Given the description of an element on the screen output the (x, y) to click on. 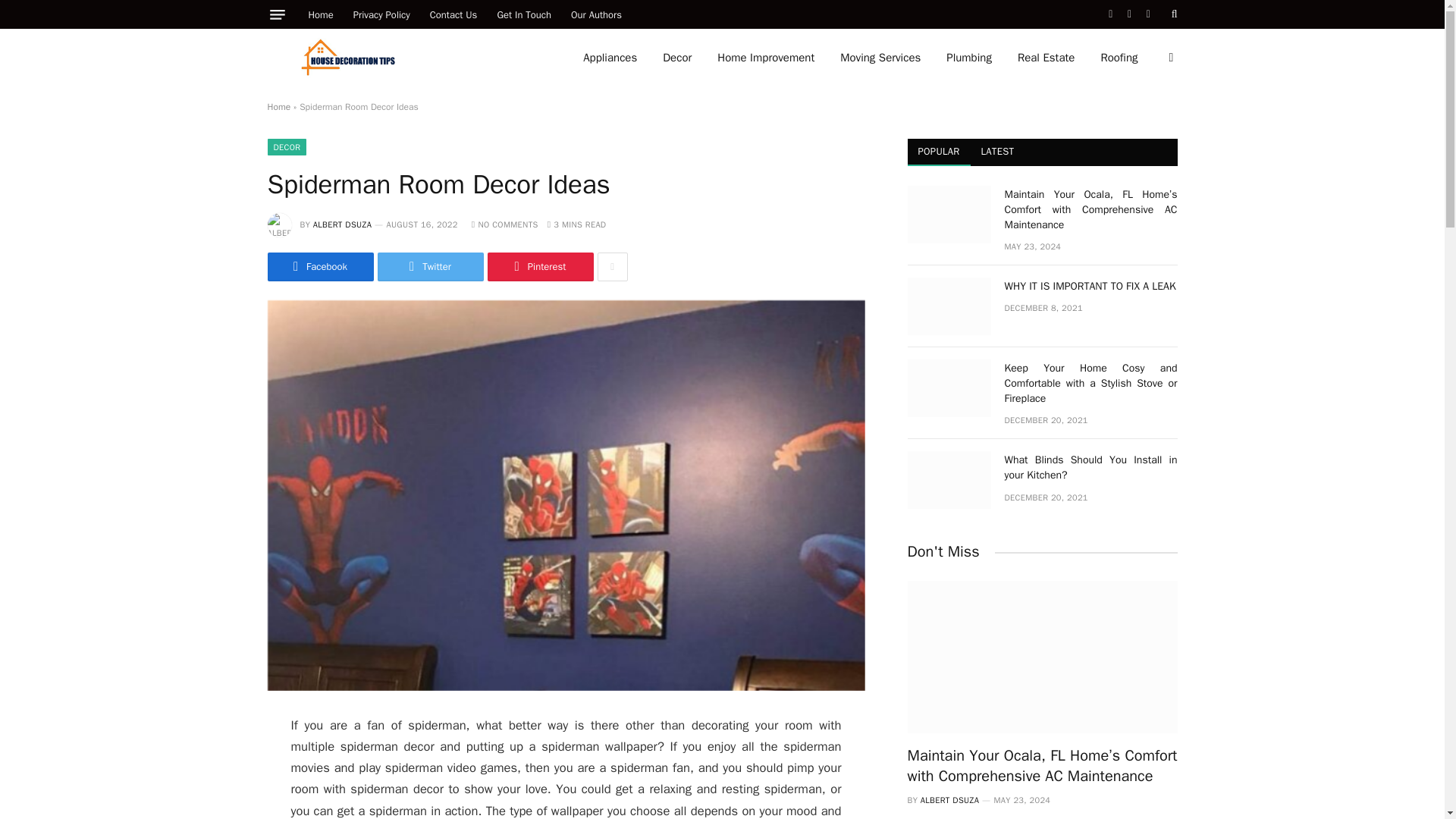
Plumbing (968, 57)
Appliances (609, 57)
Facebook (319, 266)
Switch to Dark Design - easier on eyes. (1169, 57)
Share on Pinterest (539, 266)
Share on Facebook (319, 266)
Decor (676, 57)
Our Authors (595, 14)
Moving Services (880, 57)
Home (277, 106)
